Given the description of an element on the screen output the (x, y) to click on. 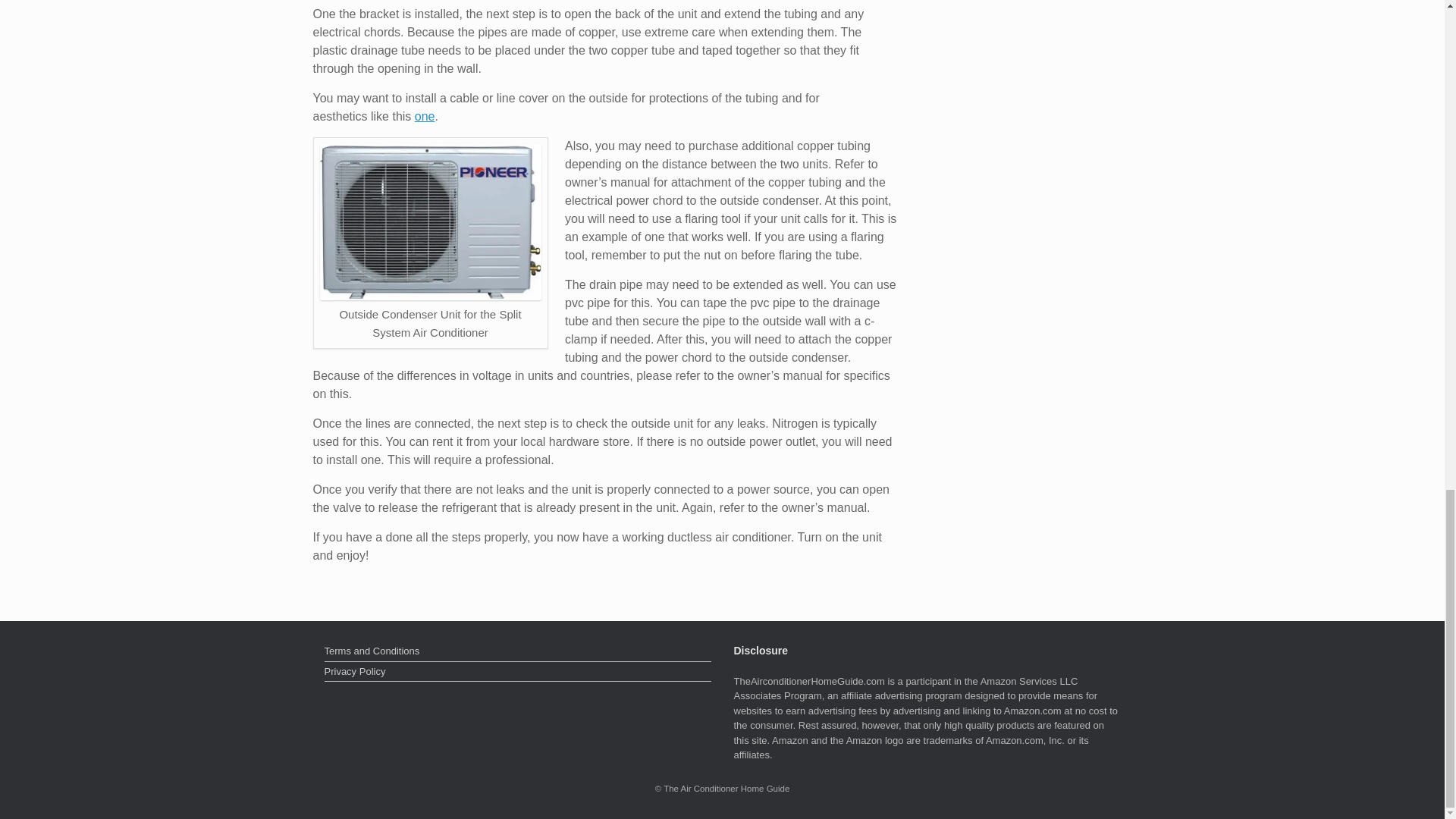
one (424, 115)
